Given the description of an element on the screen output the (x, y) to click on. 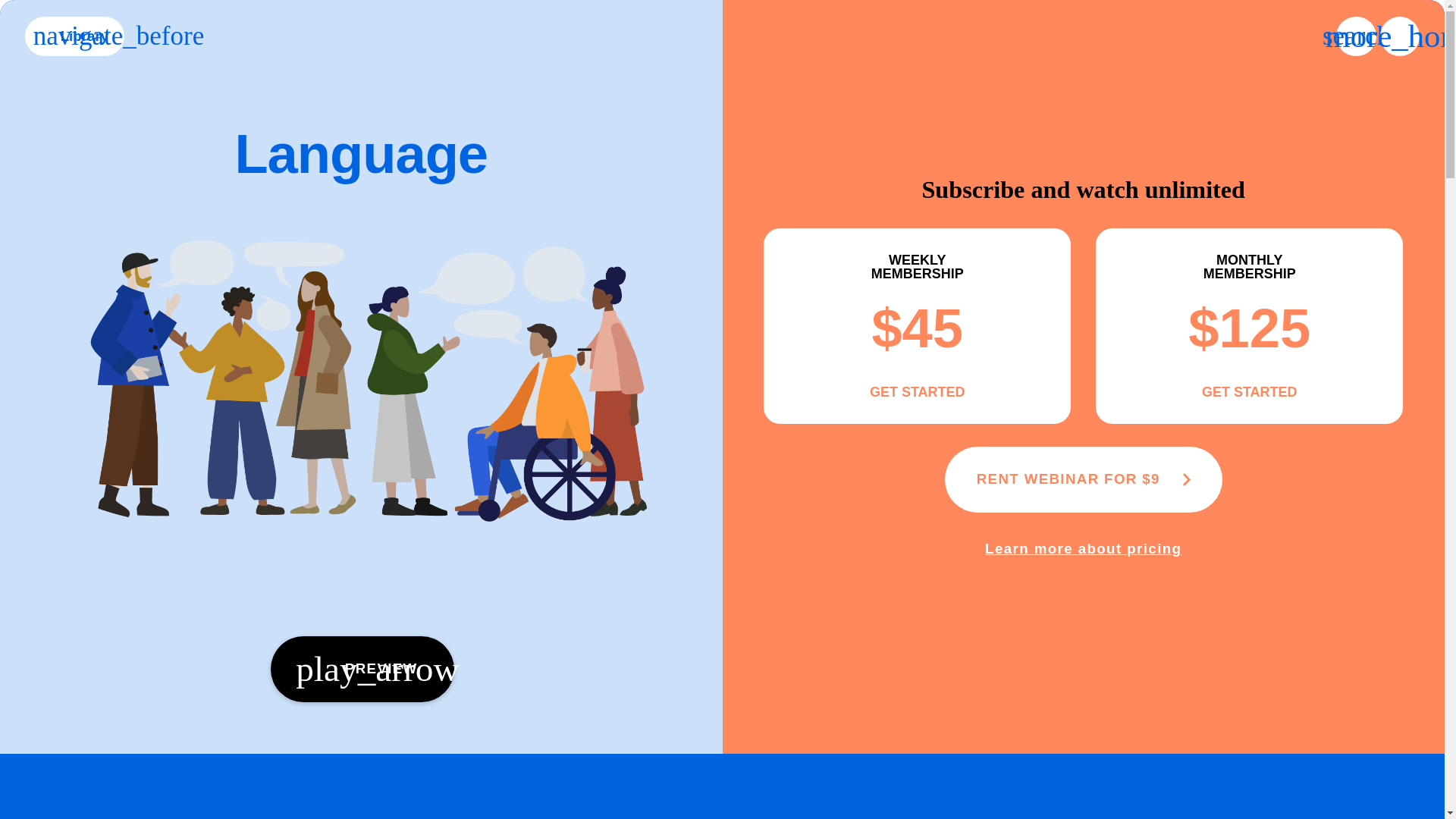
search (1355, 36)
